Given the description of an element on the screen output the (x, y) to click on. 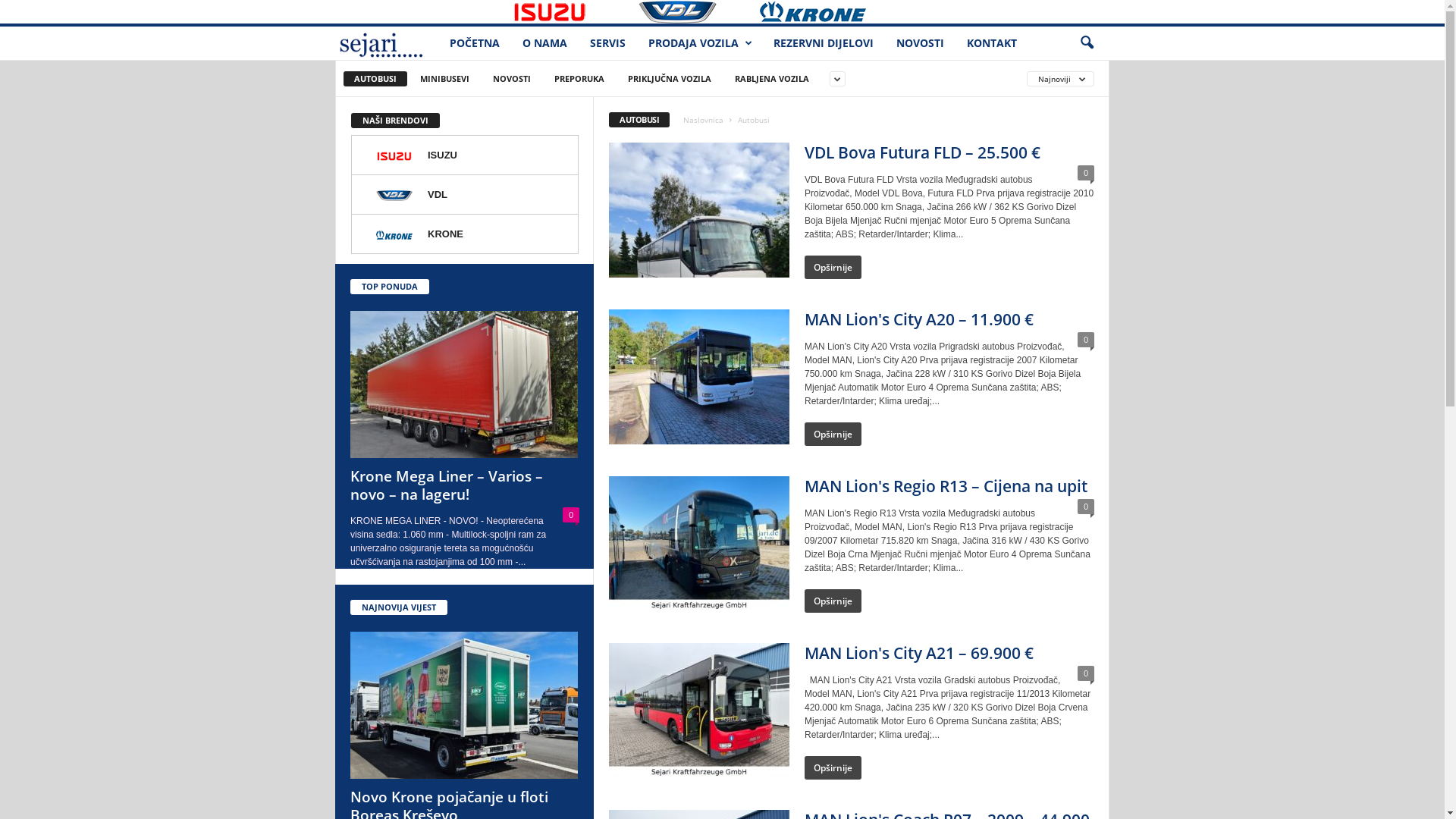
ISUZU Element type: text (464, 155)
PRODAJA VOZILA Element type: text (699, 42)
MINIBUSEVI Element type: text (444, 78)
Naslovnica Element type: text (703, 119)
RABLJENA VOZILA Element type: text (771, 78)
0 Element type: text (1085, 672)
REZERVNI DIJELOVI Element type: text (823, 42)
0 Element type: text (1085, 506)
KONTAKT Element type: text (991, 42)
NOVOSTI Element type: text (919, 42)
Sejari d.o.o. Sarajevo Element type: text (386, 43)
0 Element type: text (1085, 172)
############################### Element type: text (417, 10)
ISUZU Element type: text (569, 10)
VDL Element type: text (464, 194)
NOVOSTI Element type: text (511, 78)
KRONE Element type: text (464, 234)
0 Element type: text (570, 514)
KRONE Element type: text (834, 10)
AUTOBUSI Element type: text (375, 78)
O NAMA Element type: text (544, 42)
VDL Element type: text (692, 10)
PREPORUKA Element type: text (579, 78)
SERVIS Element type: text (607, 42)
0 Element type: text (1085, 339)
